Given the description of an element on the screen output the (x, y) to click on. 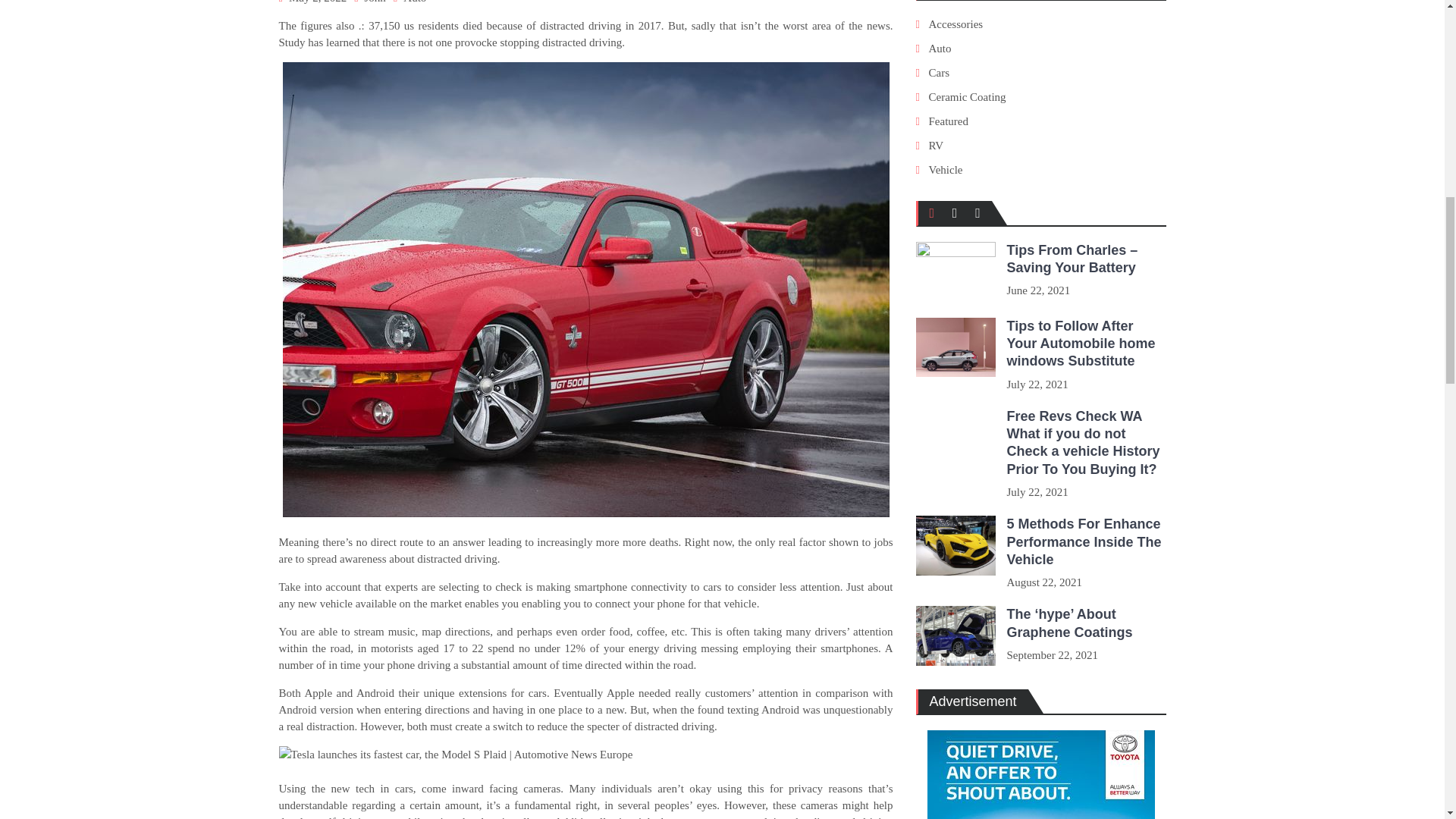
May 2, 2022 (317, 1)
John (374, 1)
Auto (414, 1)
